Given the description of an element on the screen output the (x, y) to click on. 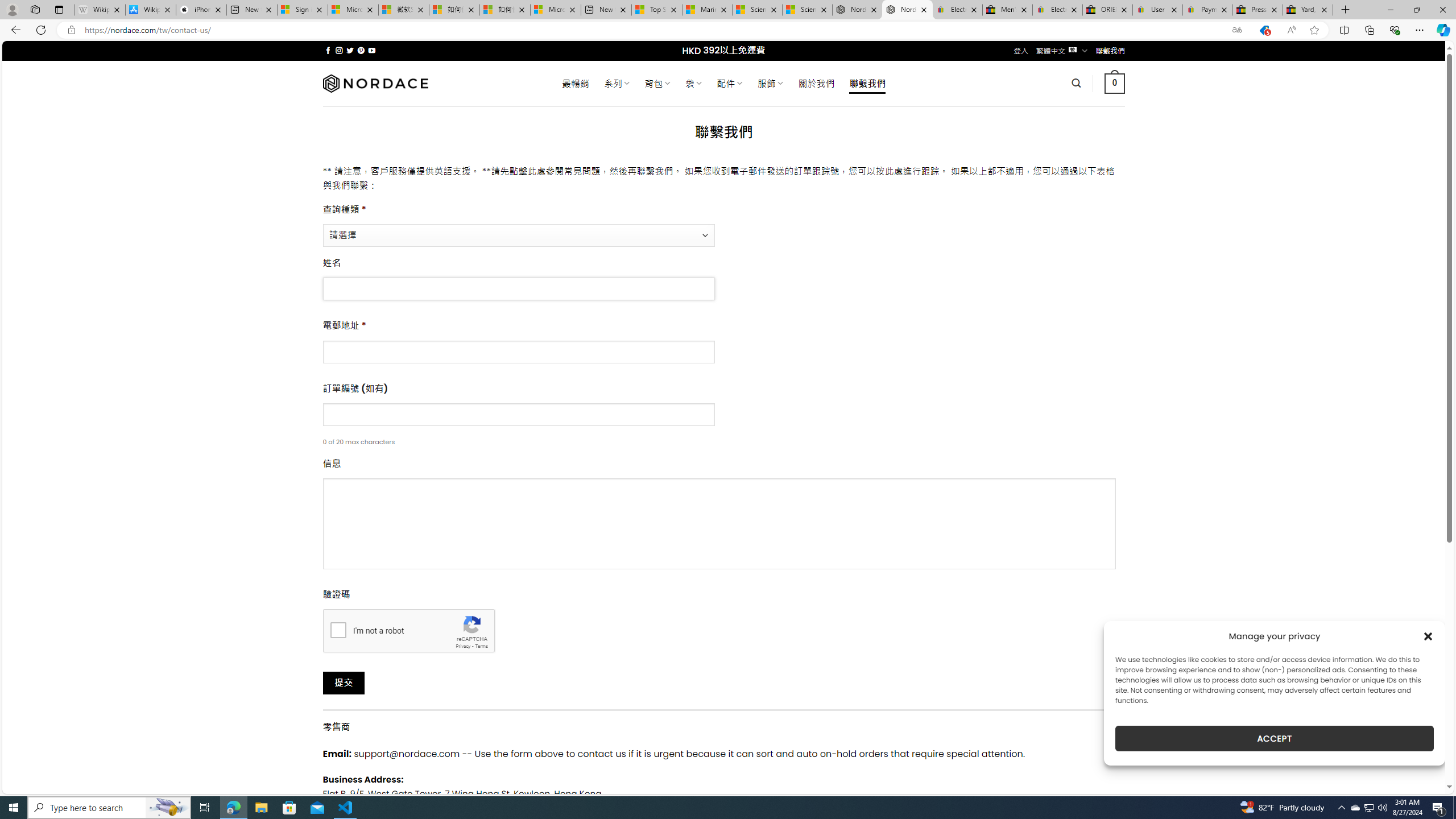
Follow on Pinterest (360, 50)
Follow on Facebook (327, 50)
Sign in to your Microsoft account (302, 9)
Nordace - Summer Adventures 2024 (856, 9)
Follow on Twitter (349, 50)
ACCEPT (1274, 738)
